Given the description of an element on the screen output the (x, y) to click on. 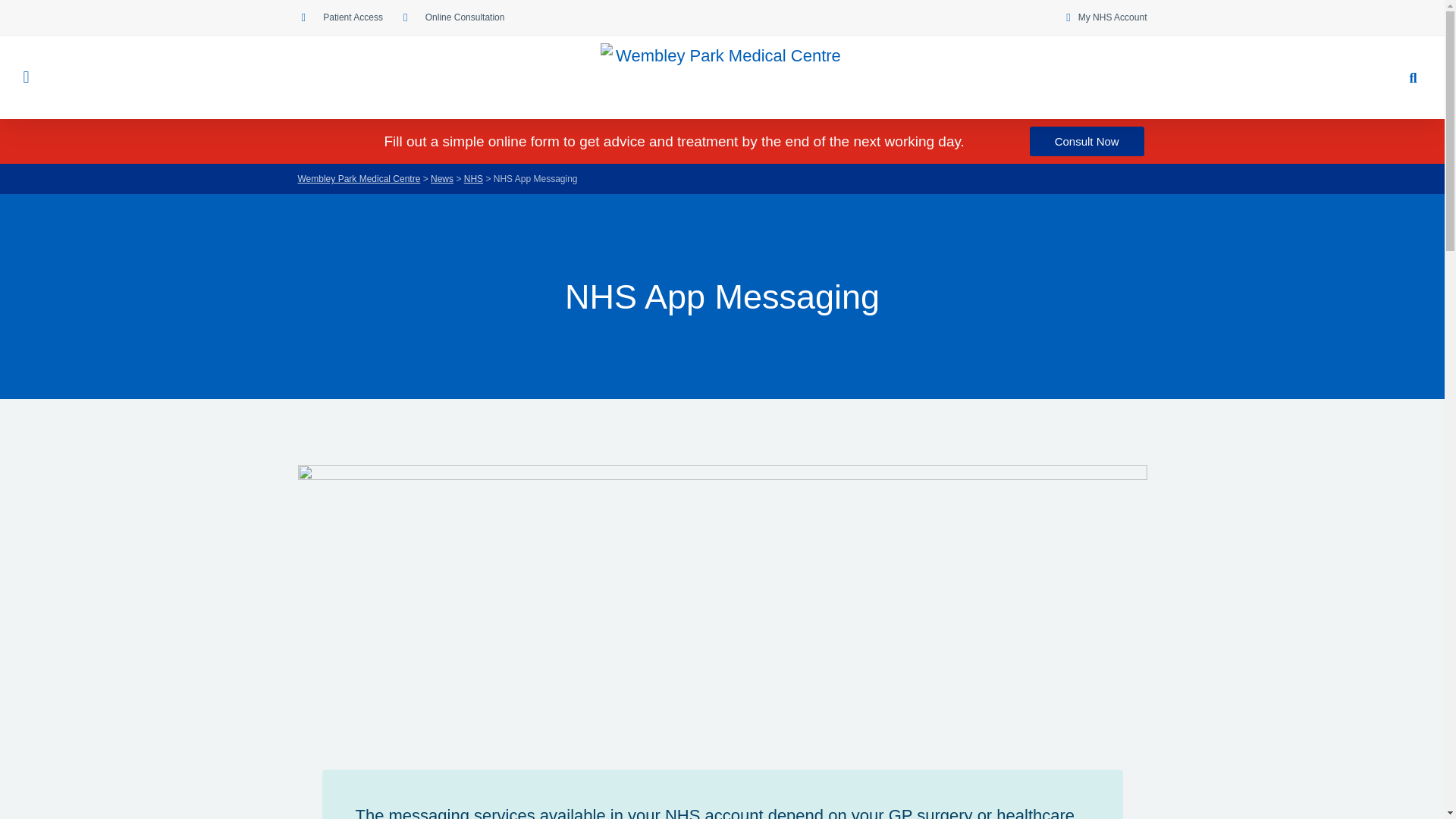
Go to the NHS Category archives. (473, 178)
Consult Now (1086, 141)
Wembley Park Medical Centre (358, 178)
NHS (473, 178)
Go to News. (441, 178)
Online Consultation (453, 17)
My NHS Account (1102, 17)
Patient Access (341, 17)
News (441, 178)
Go to Wembley Park Medical Centre. (358, 178)
